Given the description of an element on the screen output the (x, y) to click on. 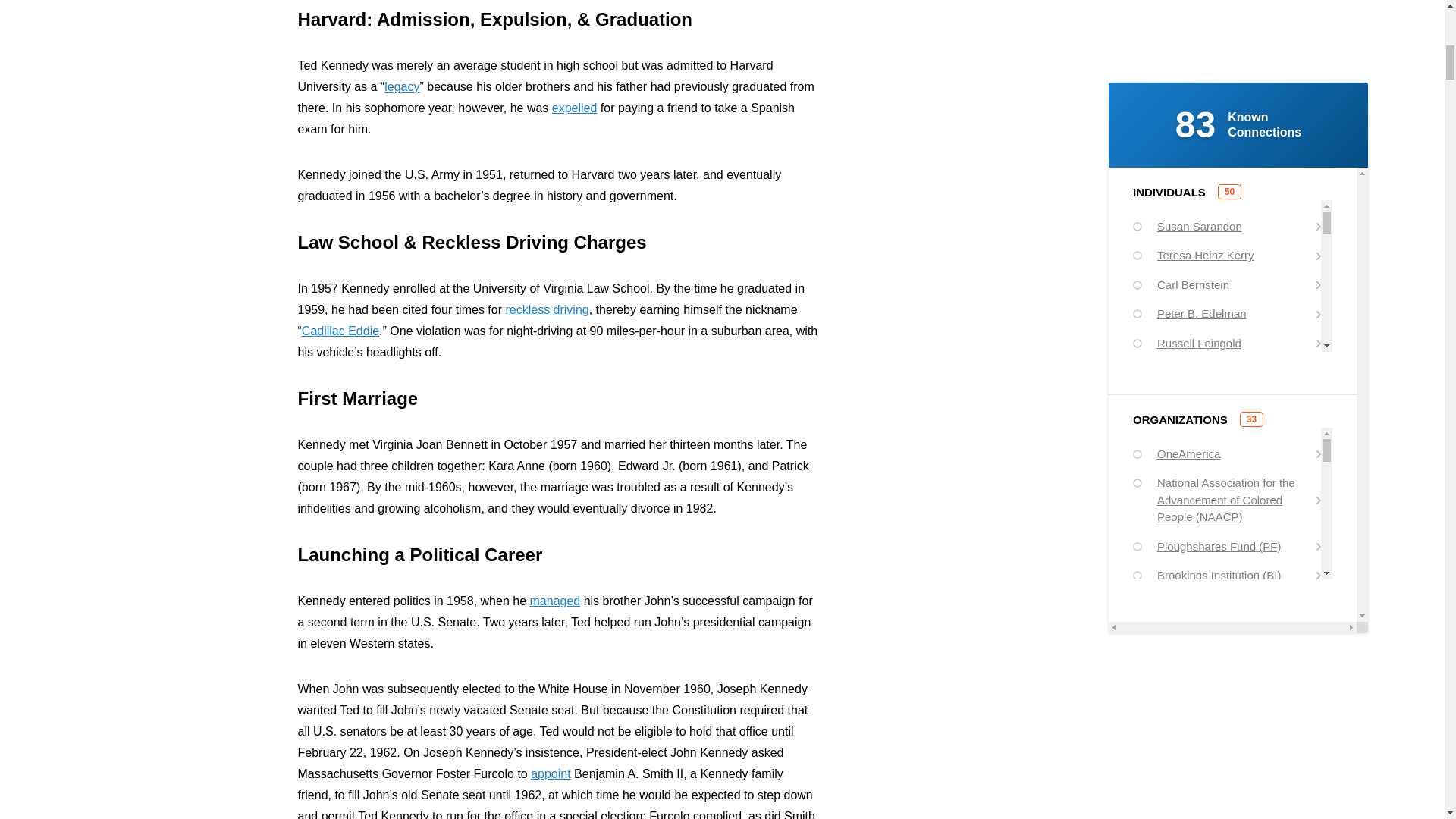
reckless driving (546, 309)
expelled (573, 107)
legacy (401, 86)
managed (554, 600)
appoint (550, 773)
Cadillac Eddie (339, 330)
